Given the description of an element on the screen output the (x, y) to click on. 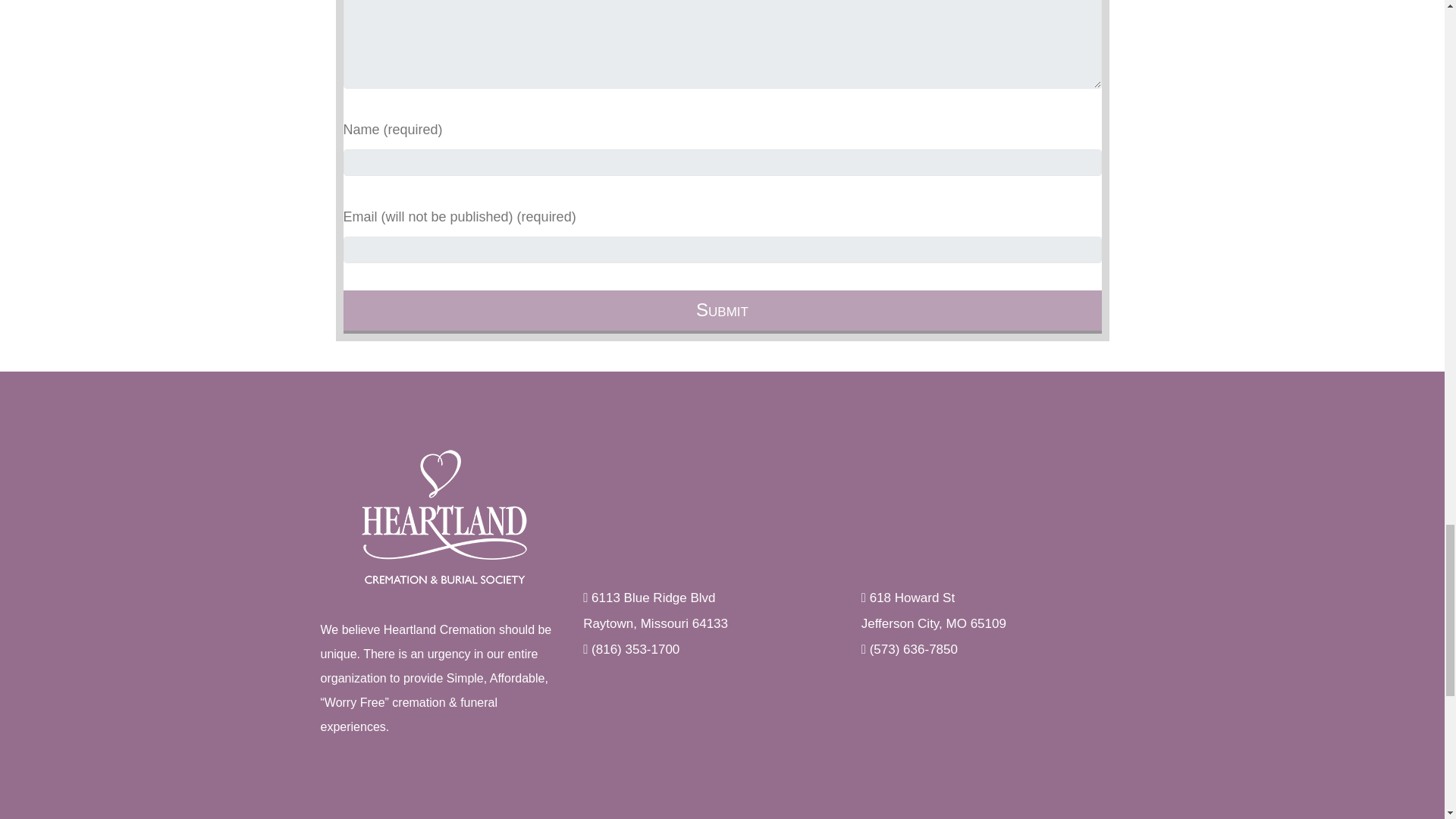
footer-sml-HeartLandWhiteNoBackground (443, 517)
Submit (721, 311)
